Given the description of an element on the screen output the (x, y) to click on. 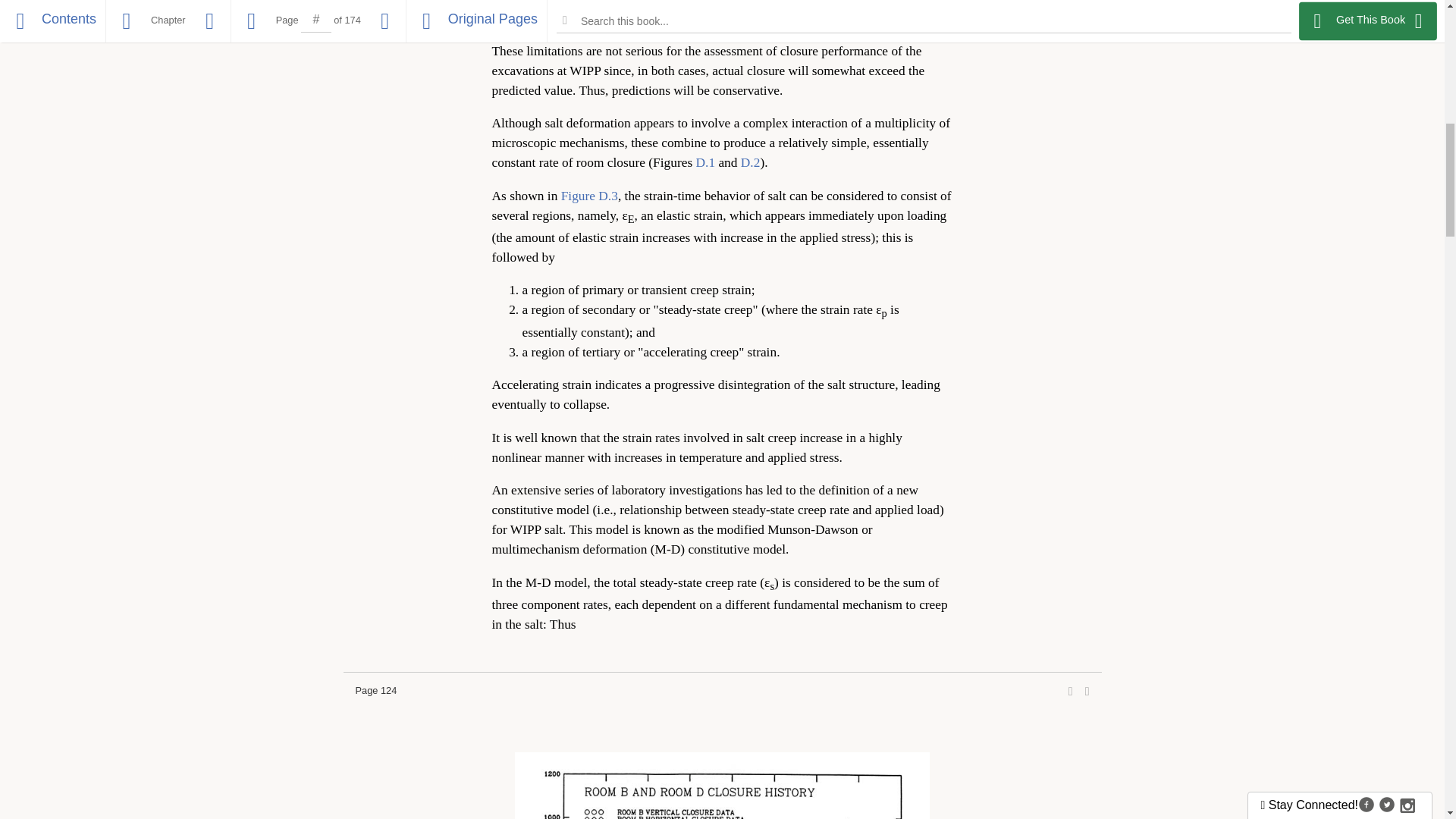
Cite this page (1086, 691)
D.2 (750, 162)
Share this page (1070, 691)
Figure D.3 (588, 196)
D.1 (705, 162)
